Given the description of an element on the screen output the (x, y) to click on. 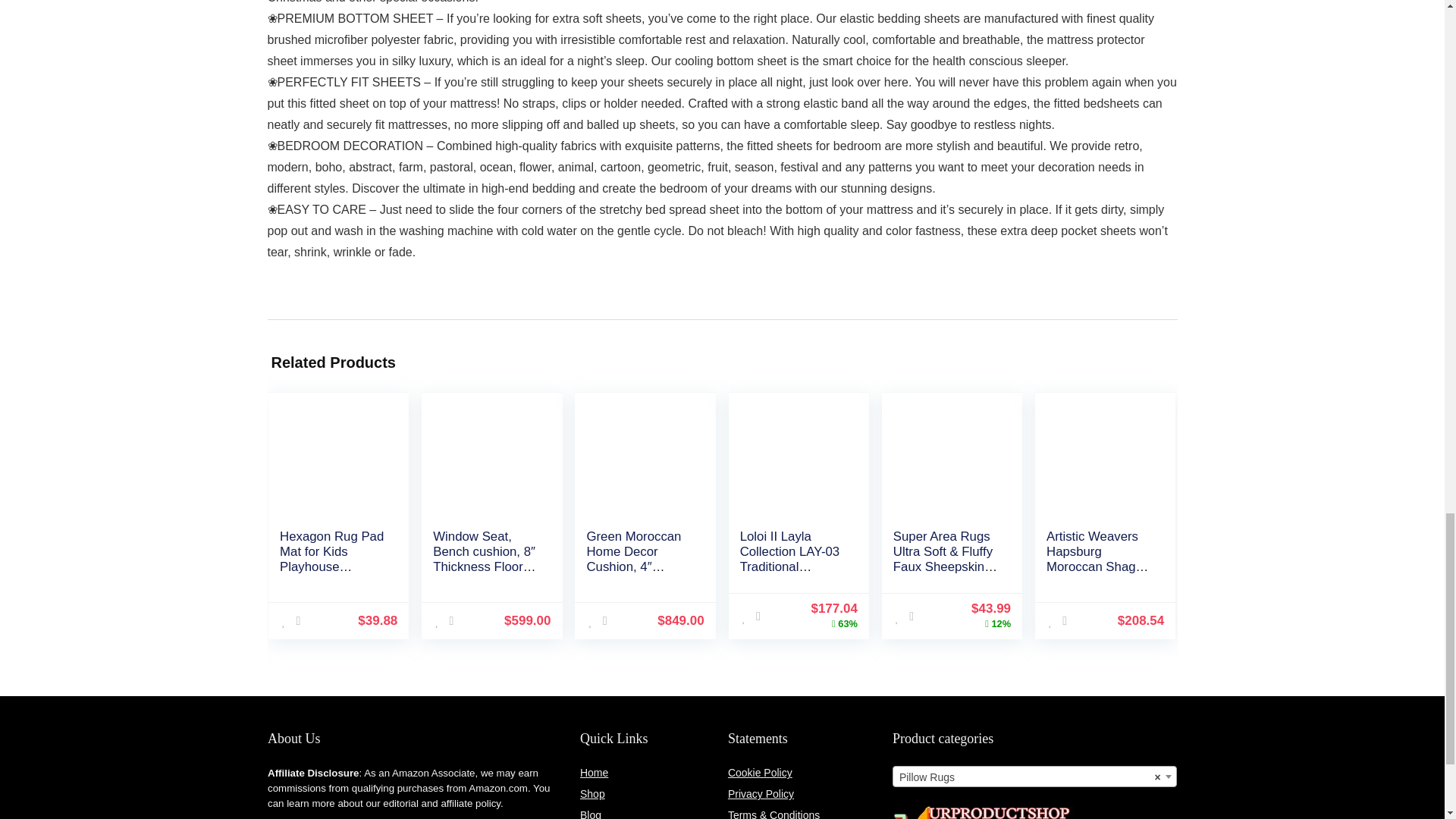
Pillow Rugs (1034, 776)
